Given the description of an element on the screen output the (x, y) to click on. 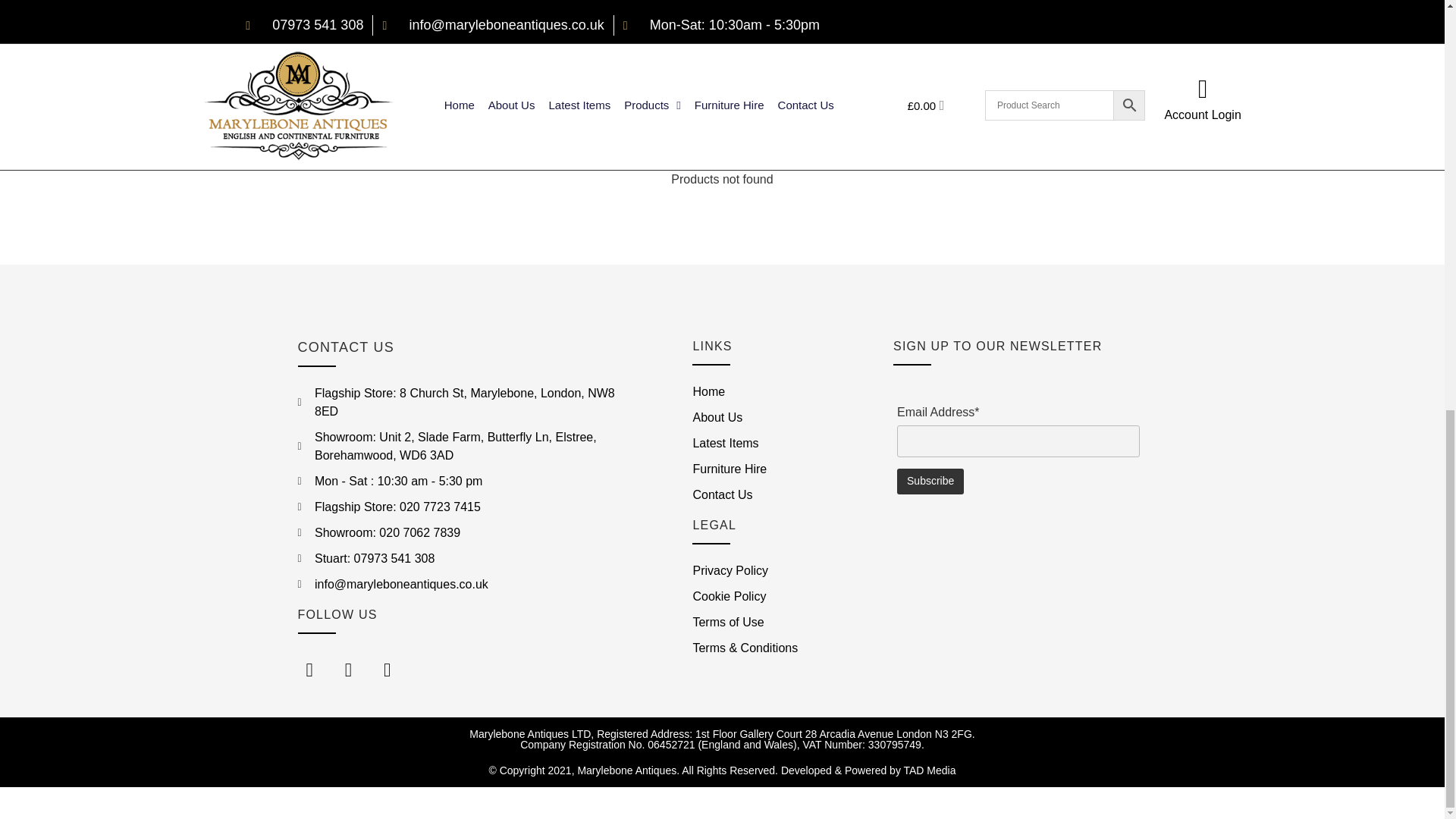
Subscribe (929, 481)
